Given the description of an element on the screen output the (x, y) to click on. 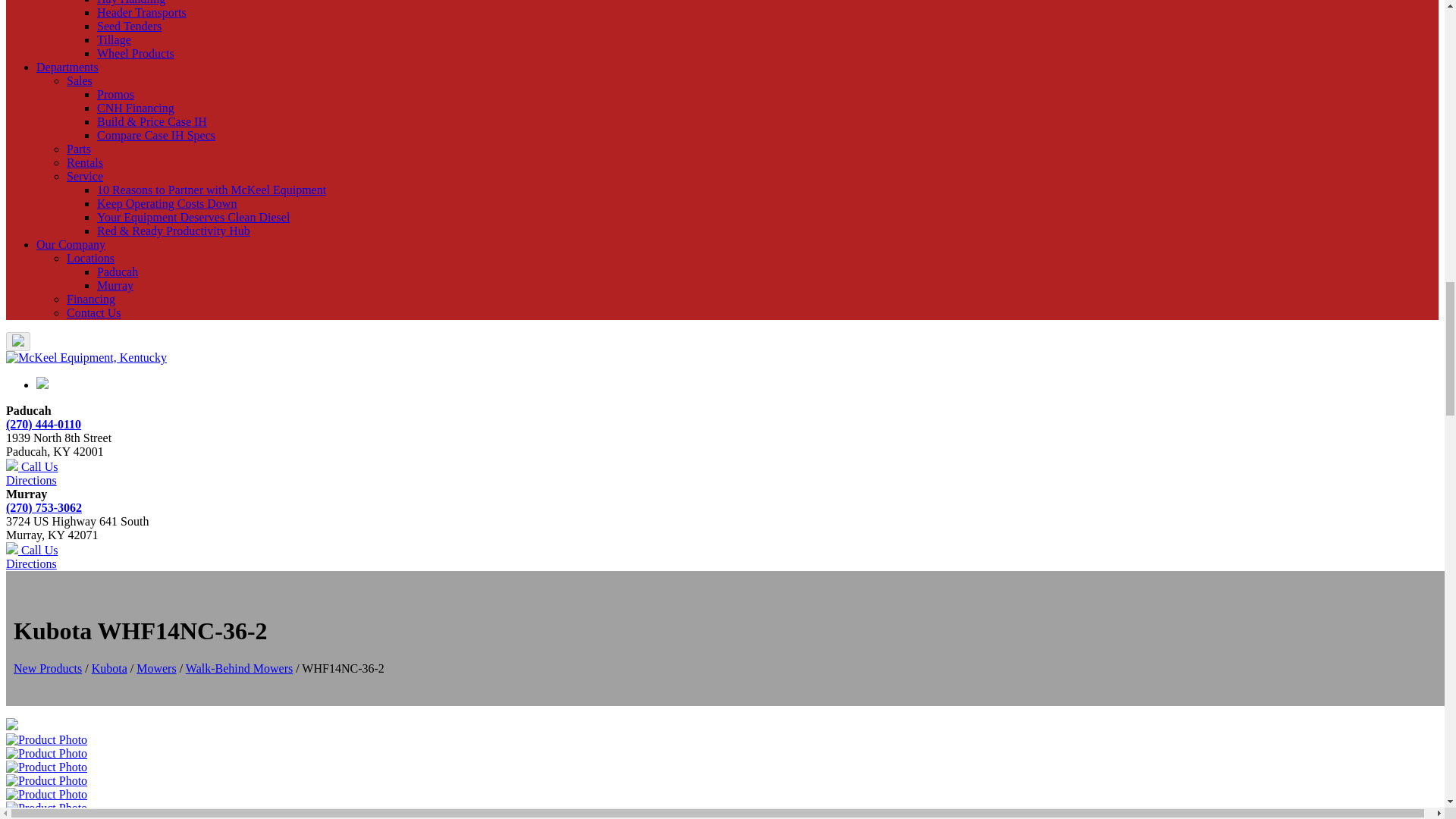
McKeel Equipment, Kentucky (86, 357)
